Given the description of an element on the screen output the (x, y) to click on. 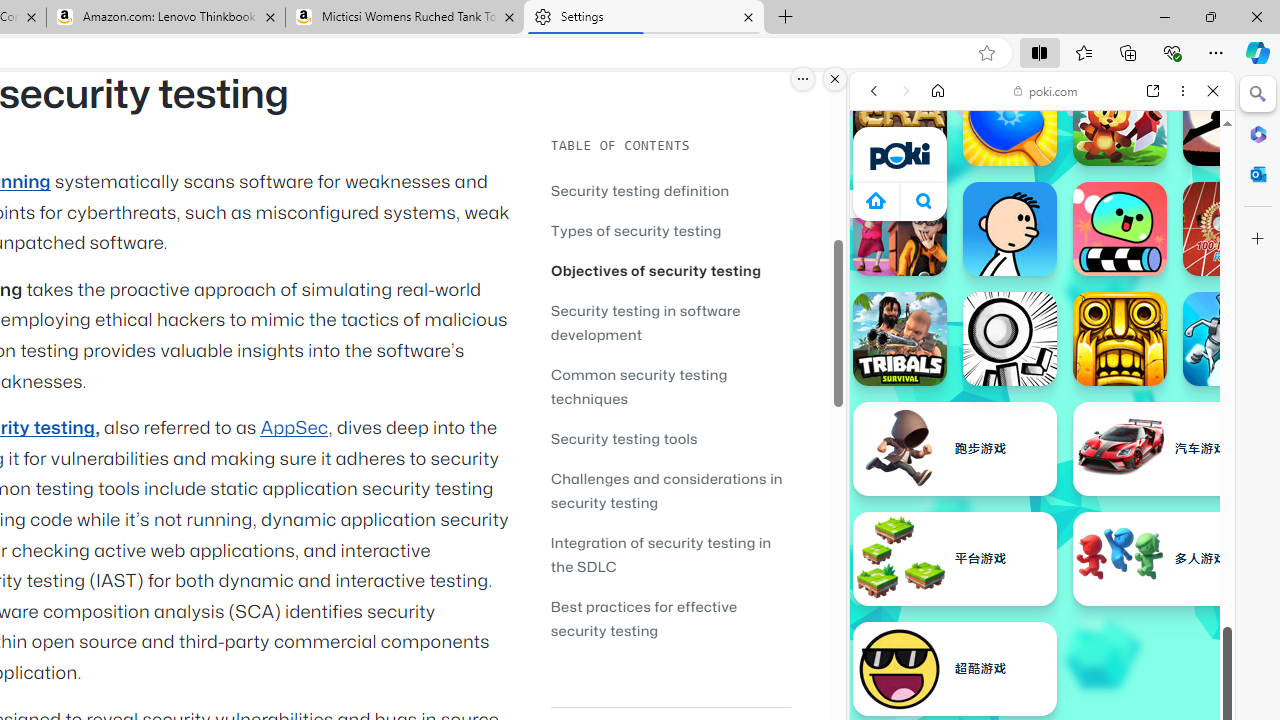
Shooting Games (1042, 519)
School Escape! (899, 228)
Close split screen. (835, 79)
Best practices for effective security testing (670, 618)
Poor Eddie (1009, 228)
Types of security testing (635, 230)
OvO Classic OvO Classic (1009, 338)
Security testing in software development (670, 322)
Io Games (1042, 617)
